Given the description of an element on the screen output the (x, y) to click on. 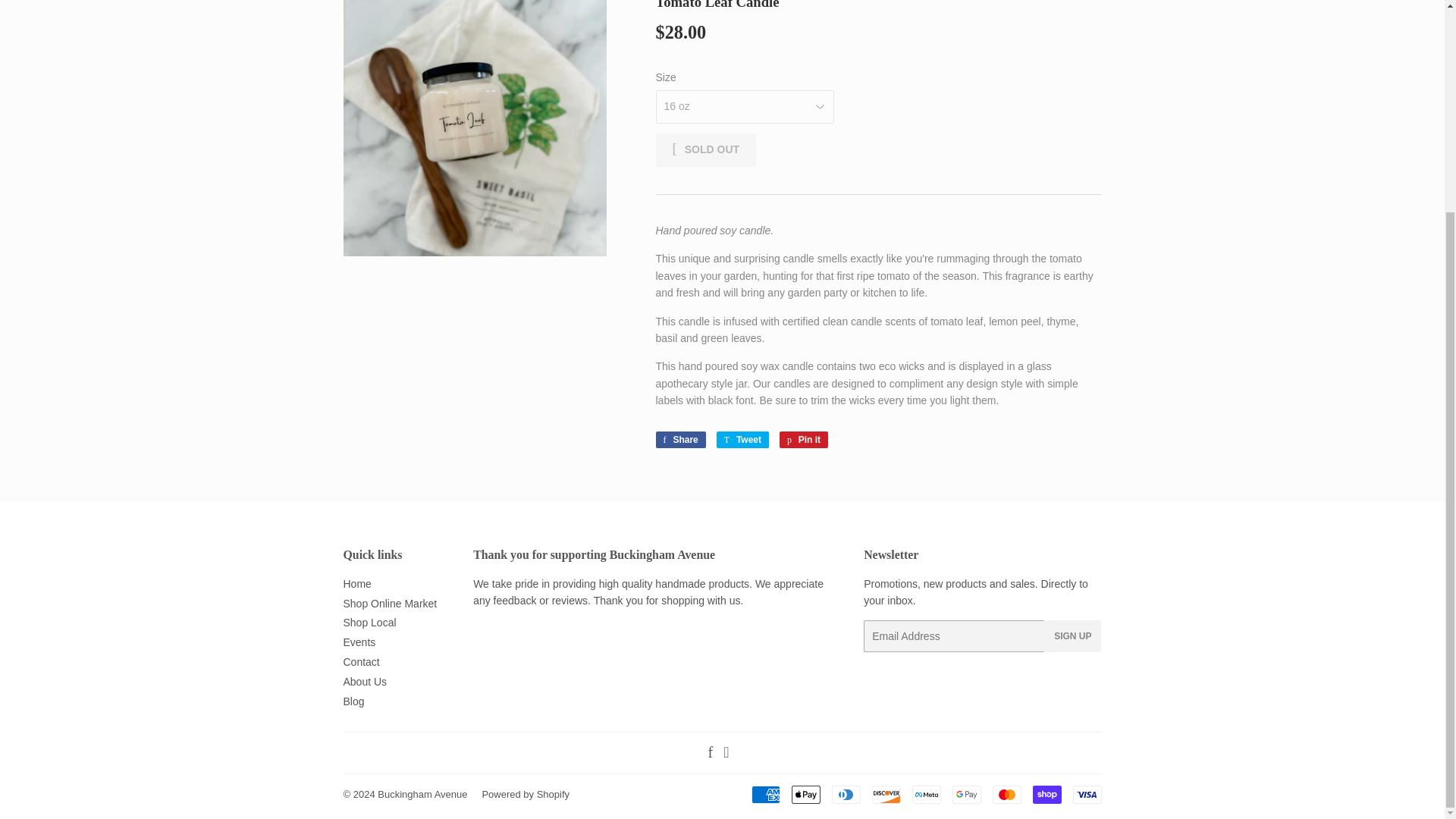
American Express (764, 794)
Shop Pay (1046, 794)
Share on Facebook (679, 439)
Pin on Pinterest (803, 439)
Discover (886, 794)
Diners Club (845, 794)
Contact (360, 662)
Google Pay (966, 794)
Mastercard (1005, 794)
About Us (364, 681)
